Given the description of an element on the screen output the (x, y) to click on. 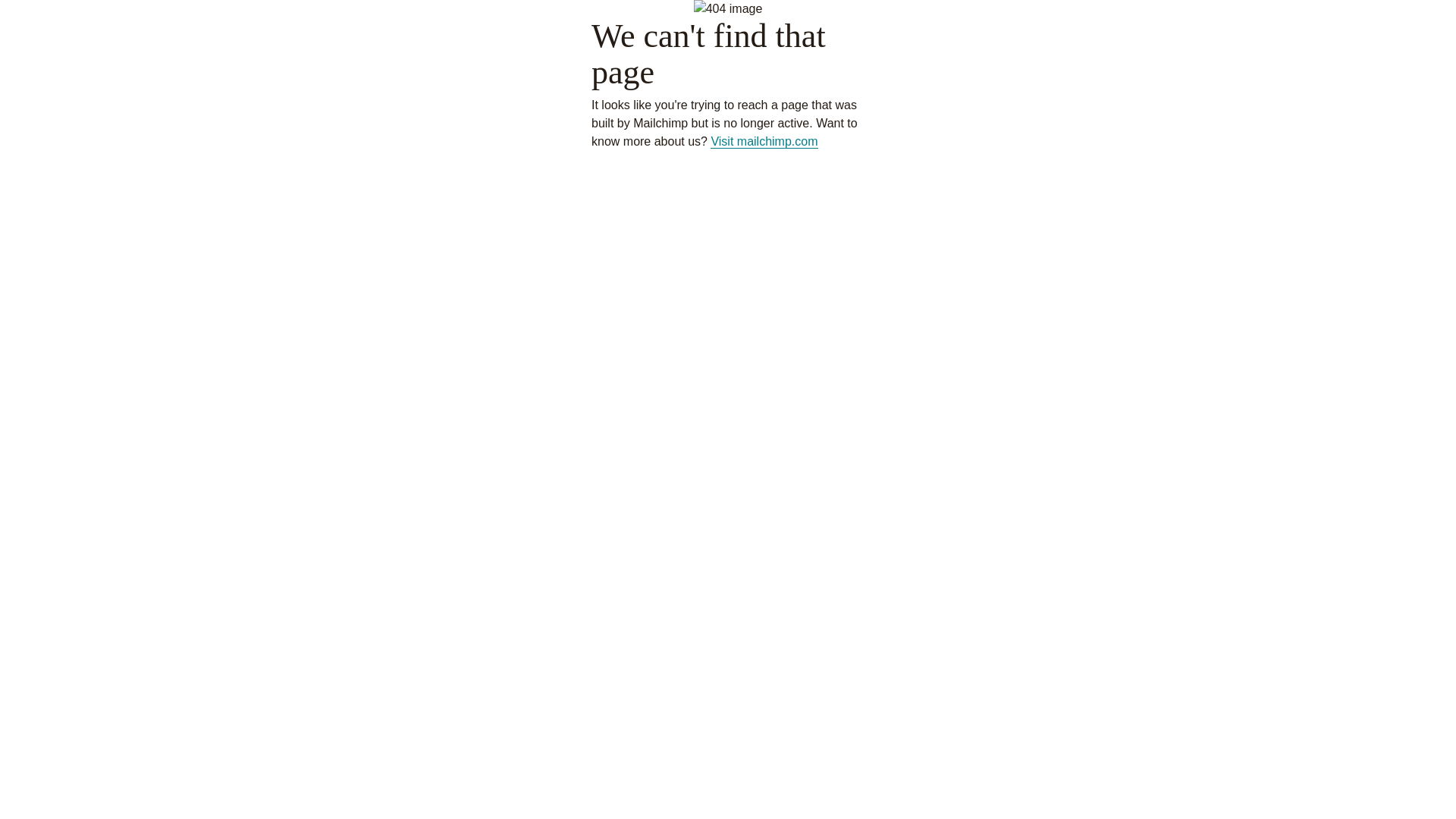
Visit mailchimp.com Element type: text (763, 141)
